Given the description of an element on the screen output the (x, y) to click on. 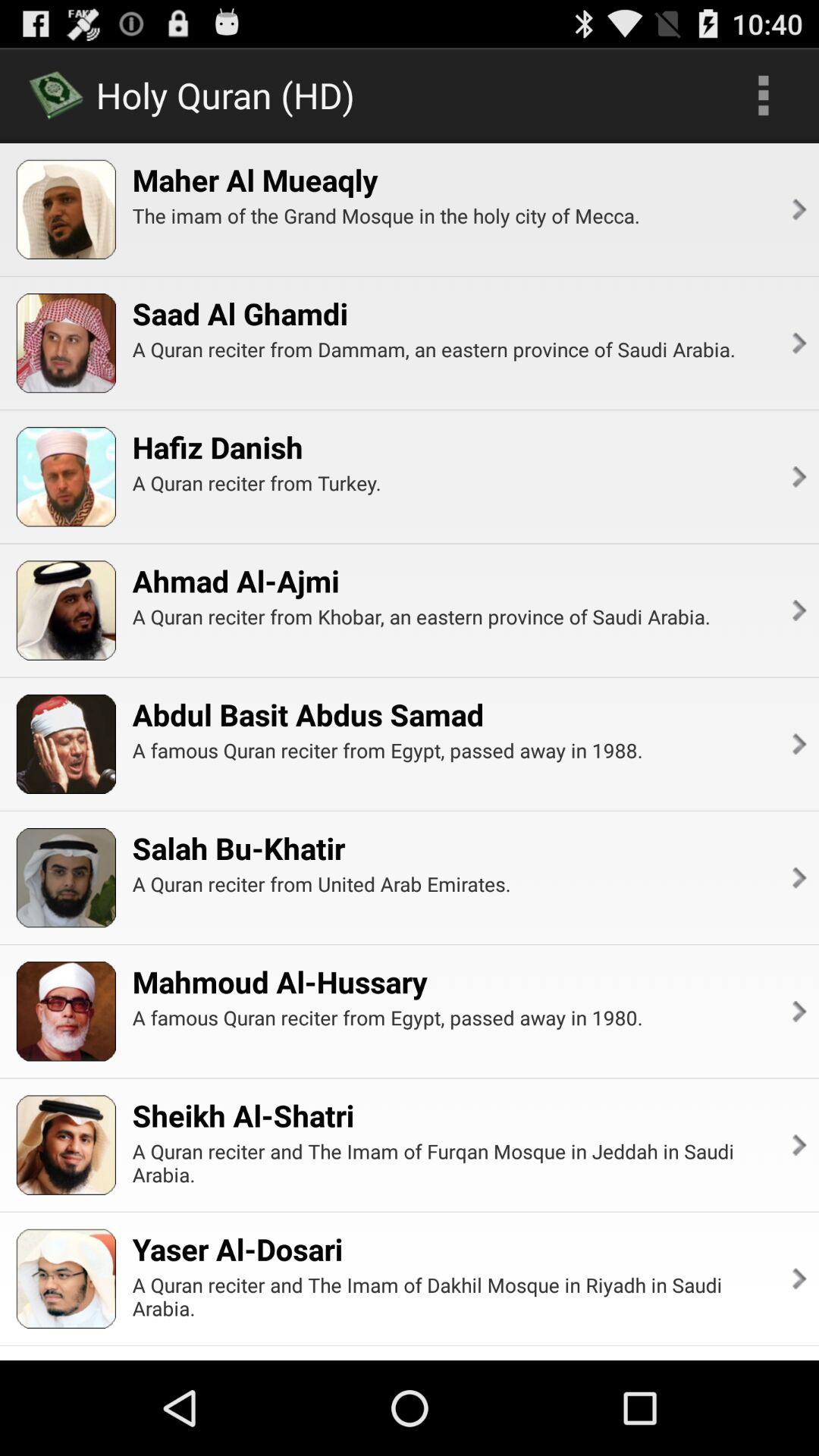
open the ahmad al-ajmi app (235, 580)
